Given the description of an element on the screen output the (x, y) to click on. 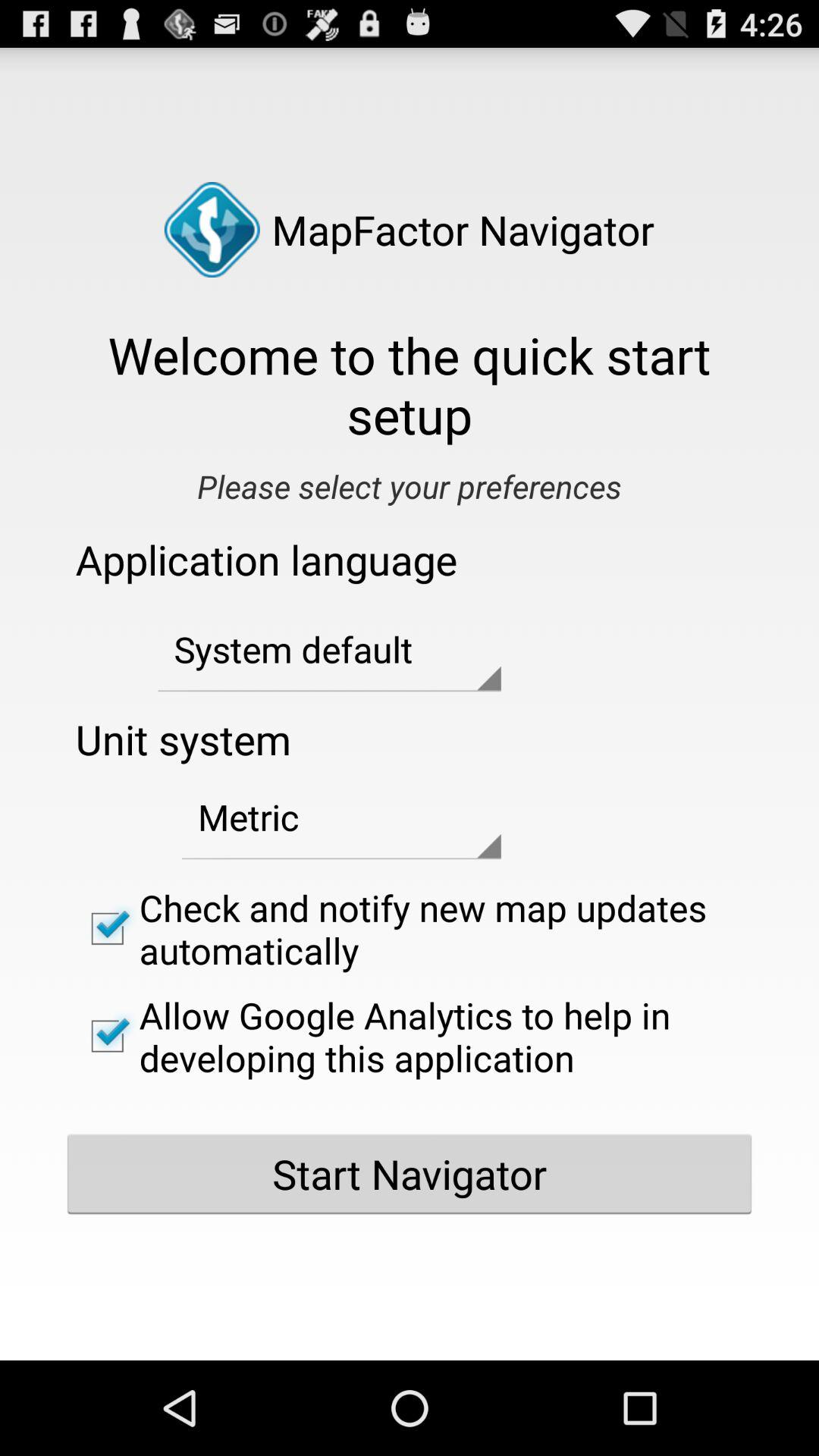
tap the allow google analytics item (409, 1036)
